Given the description of an element on the screen output the (x, y) to click on. 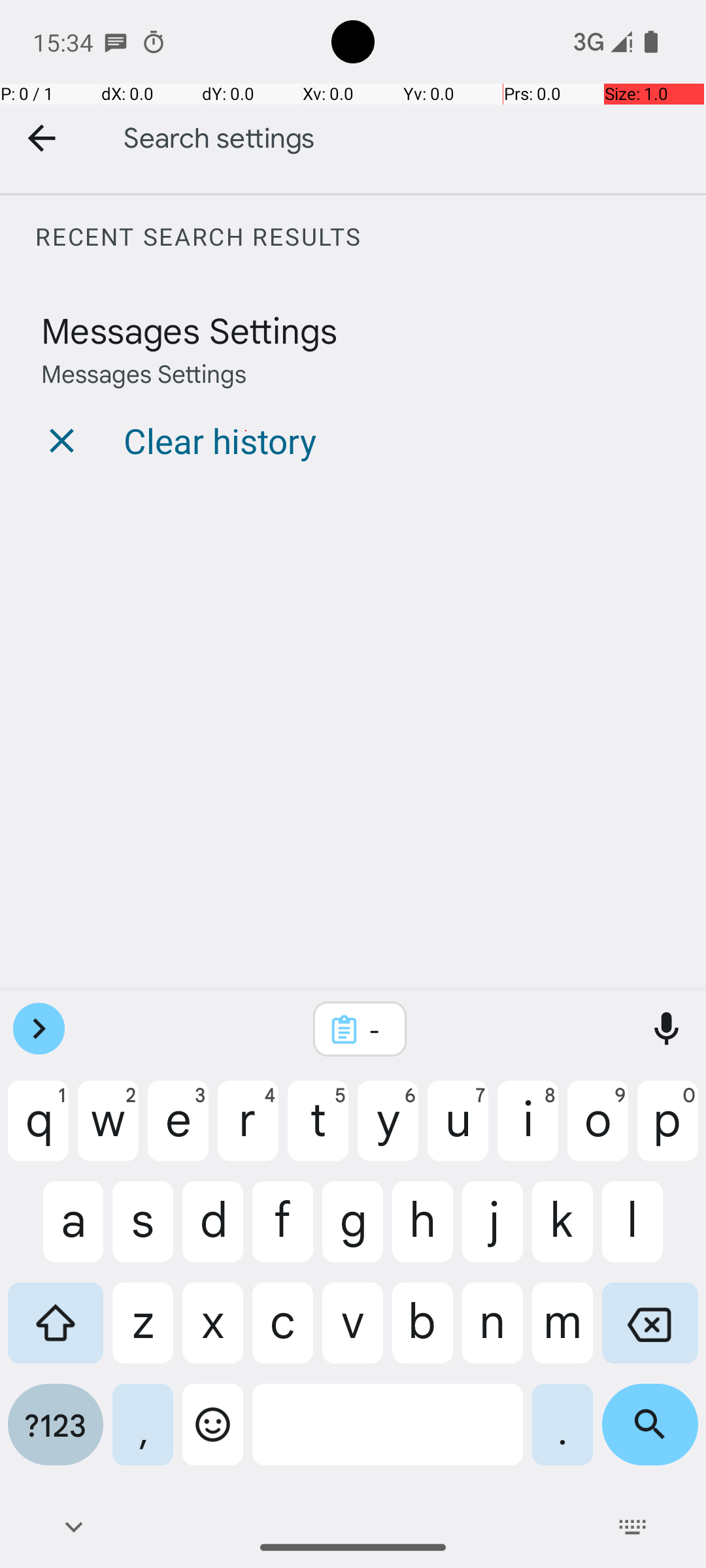
RECENT SEARCH RESULTS Element type: android.widget.TextView (370, 236)
Messages Settings Element type: android.widget.TextView (189, 329)
Clear history Element type: android.widget.TextView (219, 440)
